Given the description of an element on the screen output the (x, y) to click on. 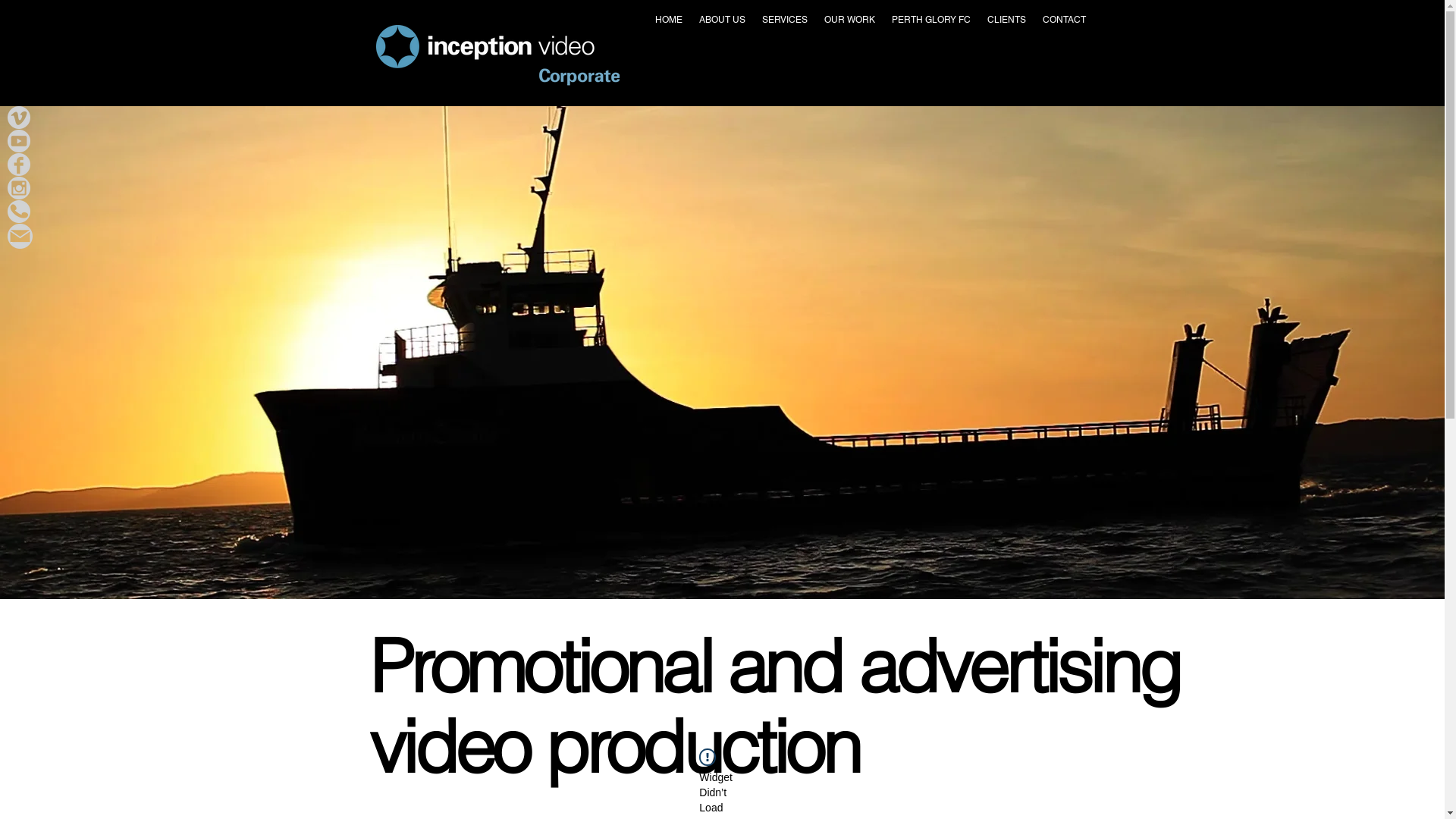
HOME Element type: text (668, 19)
OUR WORK Element type: text (849, 19)
ABOUT US Element type: text (721, 19)
CLIENTS Element type: text (1005, 19)
inception corporate WHITE_BLUE.png Element type: hover (497, 55)
PERTH GLORY FC Element type: text (930, 19)
SERVICES Element type: text (784, 19)
CONTACT Element type: text (1064, 19)
